Given the description of an element on the screen output the (x, y) to click on. 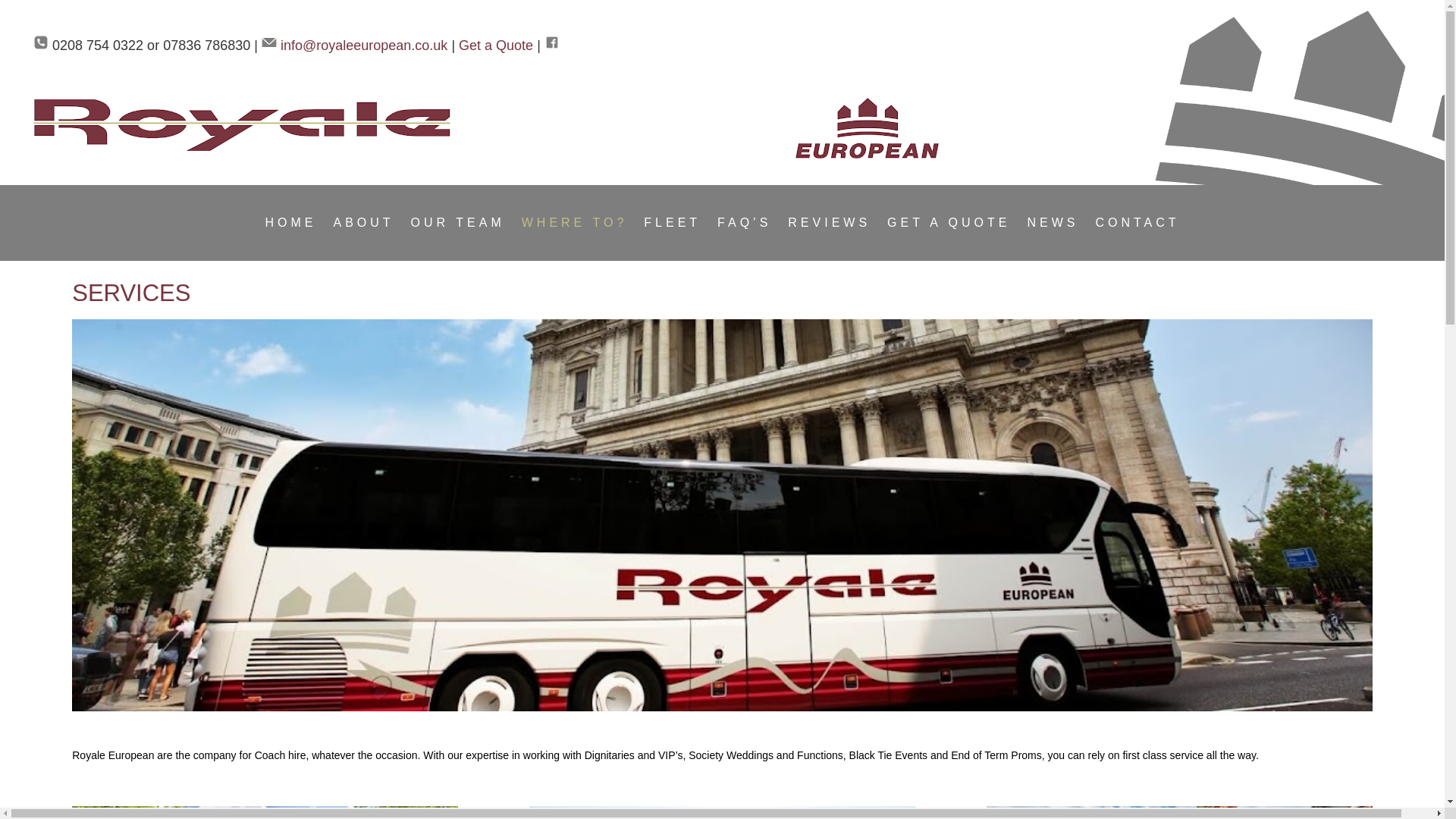
NEWS (1052, 225)
GET A QUOTE (948, 225)
ABOUT (363, 225)
CONTACT (1136, 225)
HOME (289, 225)
WHERE TO? (574, 225)
OUR TEAM (457, 225)
REVIEWS (828, 225)
FLEET (671, 225)
Get a Quote (495, 45)
